Given the description of an element on the screen output the (x, y) to click on. 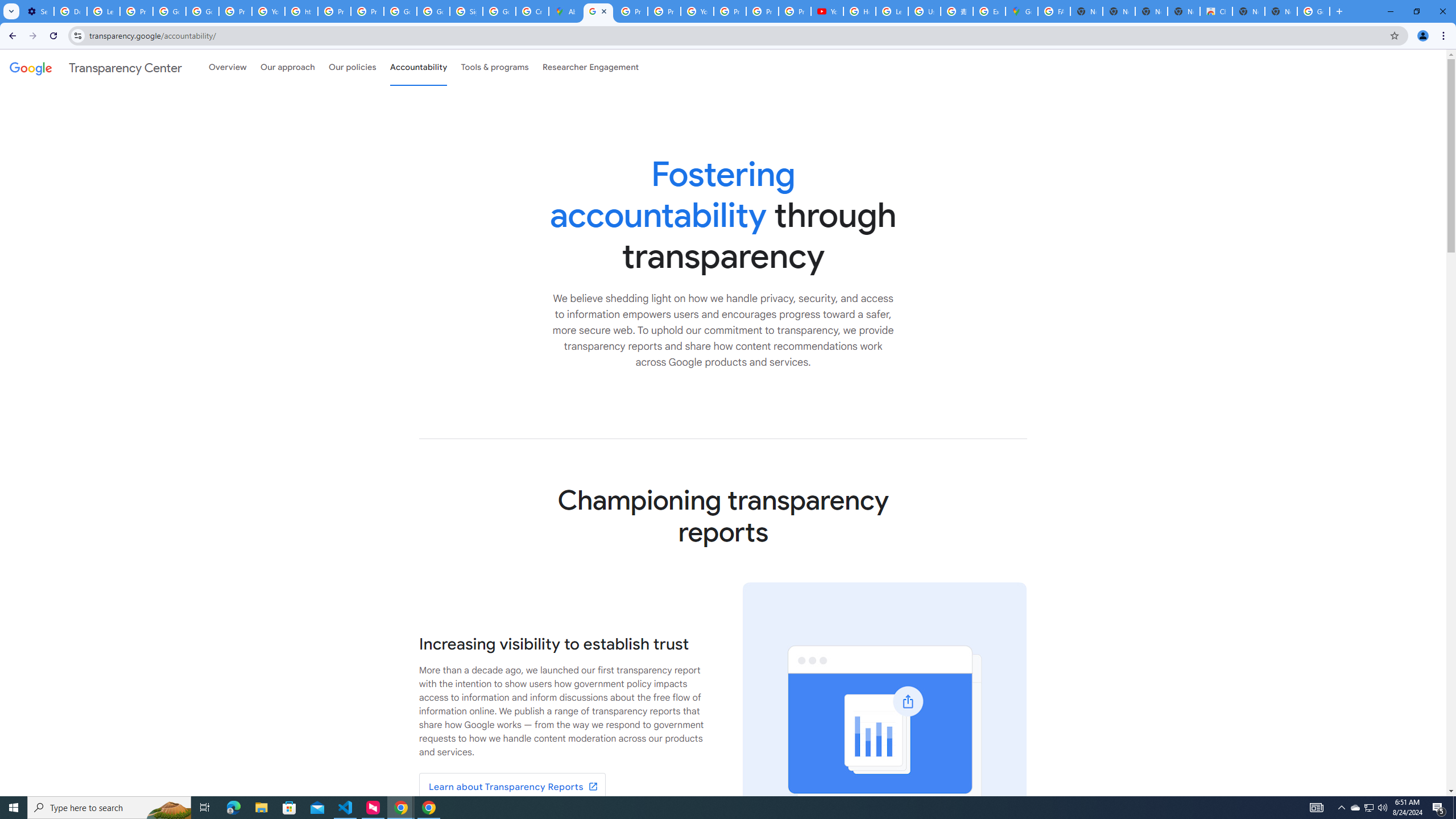
Privacy Checkup (794, 11)
Privacy Help Center - Policies Help (334, 11)
Accountability (418, 67)
Google Account Help (169, 11)
YouTube (268, 11)
Policy Accountability and Transparency - Transparency Center (598, 11)
Google Maps (1021, 11)
How Chrome protects your passwords - Google Chrome Help (859, 11)
Privacy Help Center - Policies Help (631, 11)
